Given the description of an element on the screen output the (x, y) to click on. 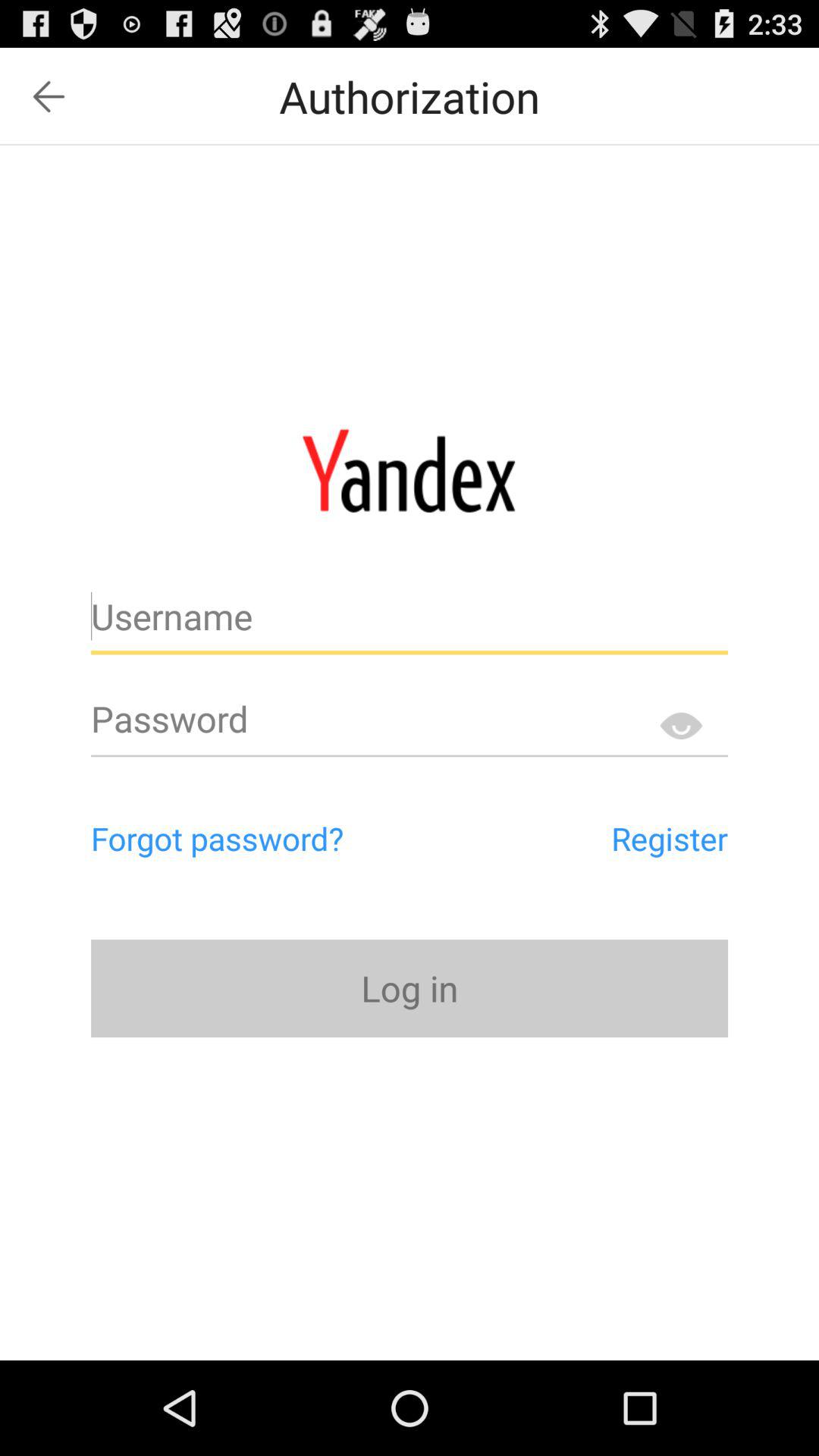
yandex logo (408, 470)
